Given the description of an element on the screen output the (x, y) to click on. 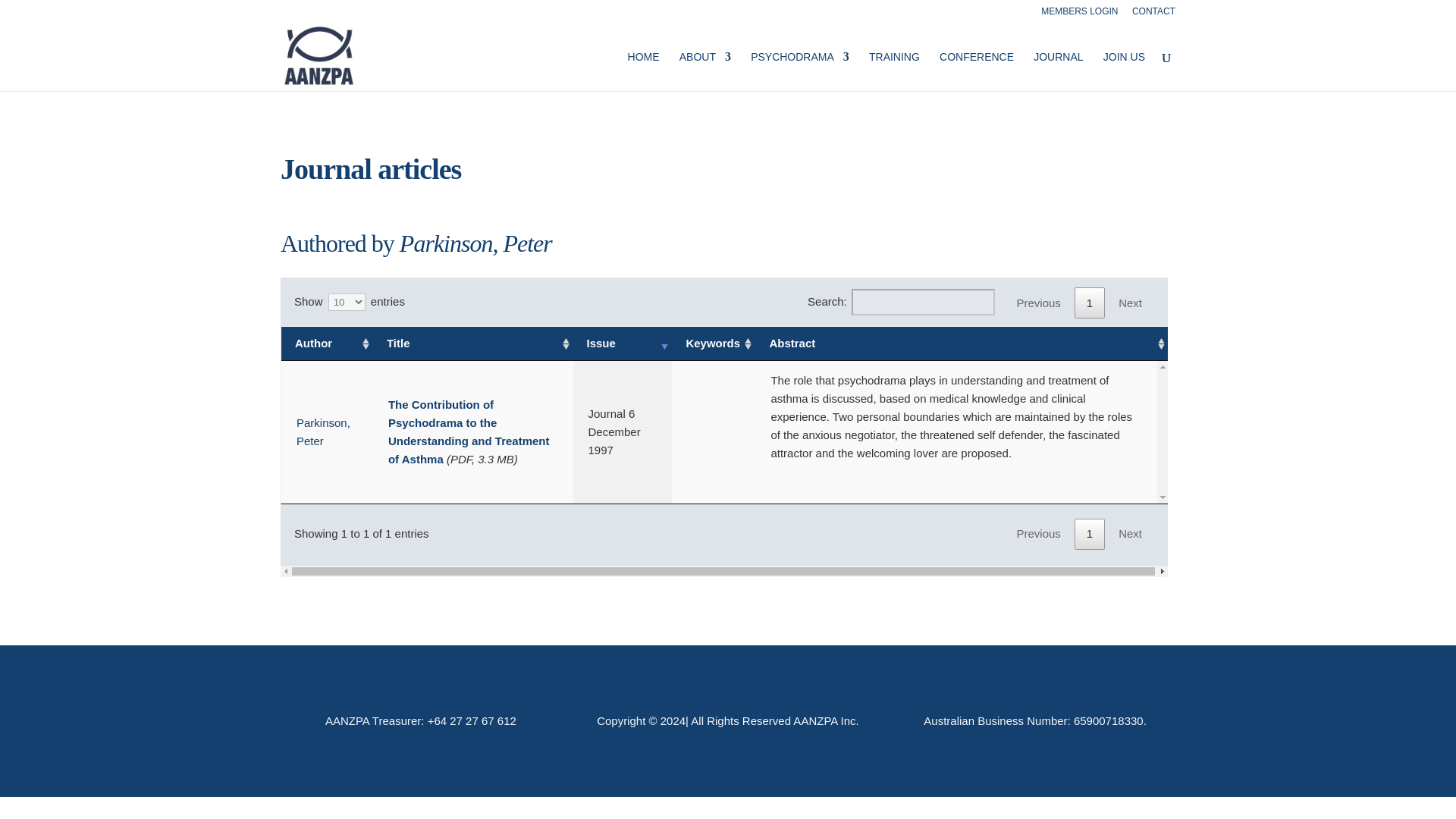
JOURNAL (1058, 70)
MEMBERS LOGIN (1079, 14)
PSYCHODRAMA (799, 70)
ABOUT (704, 70)
CONFERENCE (976, 70)
JOIN US (1123, 70)
CONTACT (1153, 14)
TRAINING (894, 70)
